Given the description of an element on the screen output the (x, y) to click on. 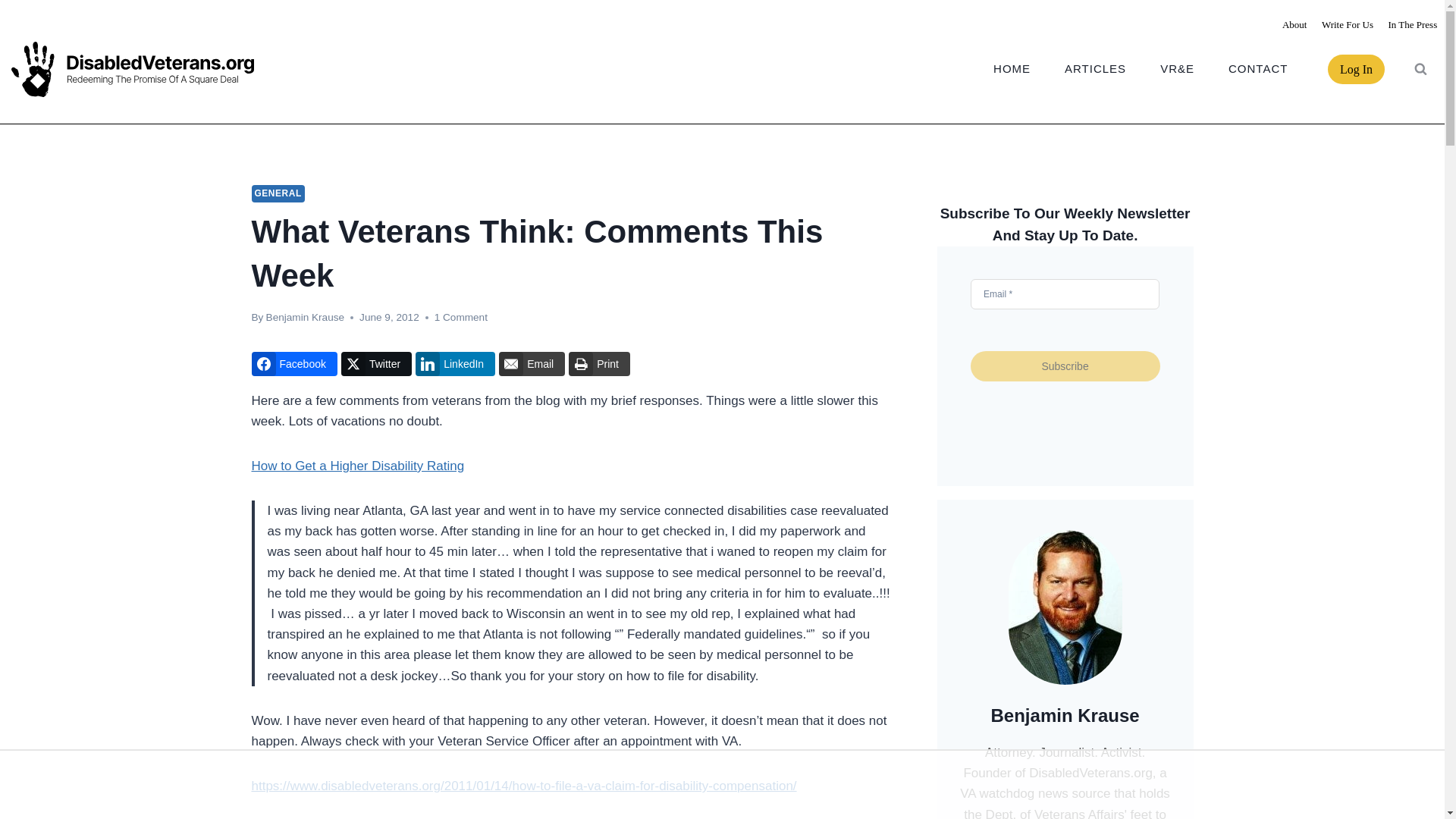
HOME (1012, 68)
Facebook (294, 363)
Print (599, 363)
Share on LinkedIn (454, 363)
LinkedIn (454, 363)
GENERAL (277, 193)
Share on Twitter (376, 363)
Share on Facebook (294, 363)
Twitter (376, 363)
About (1294, 24)
